Given the description of an element on the screen output the (x, y) to click on. 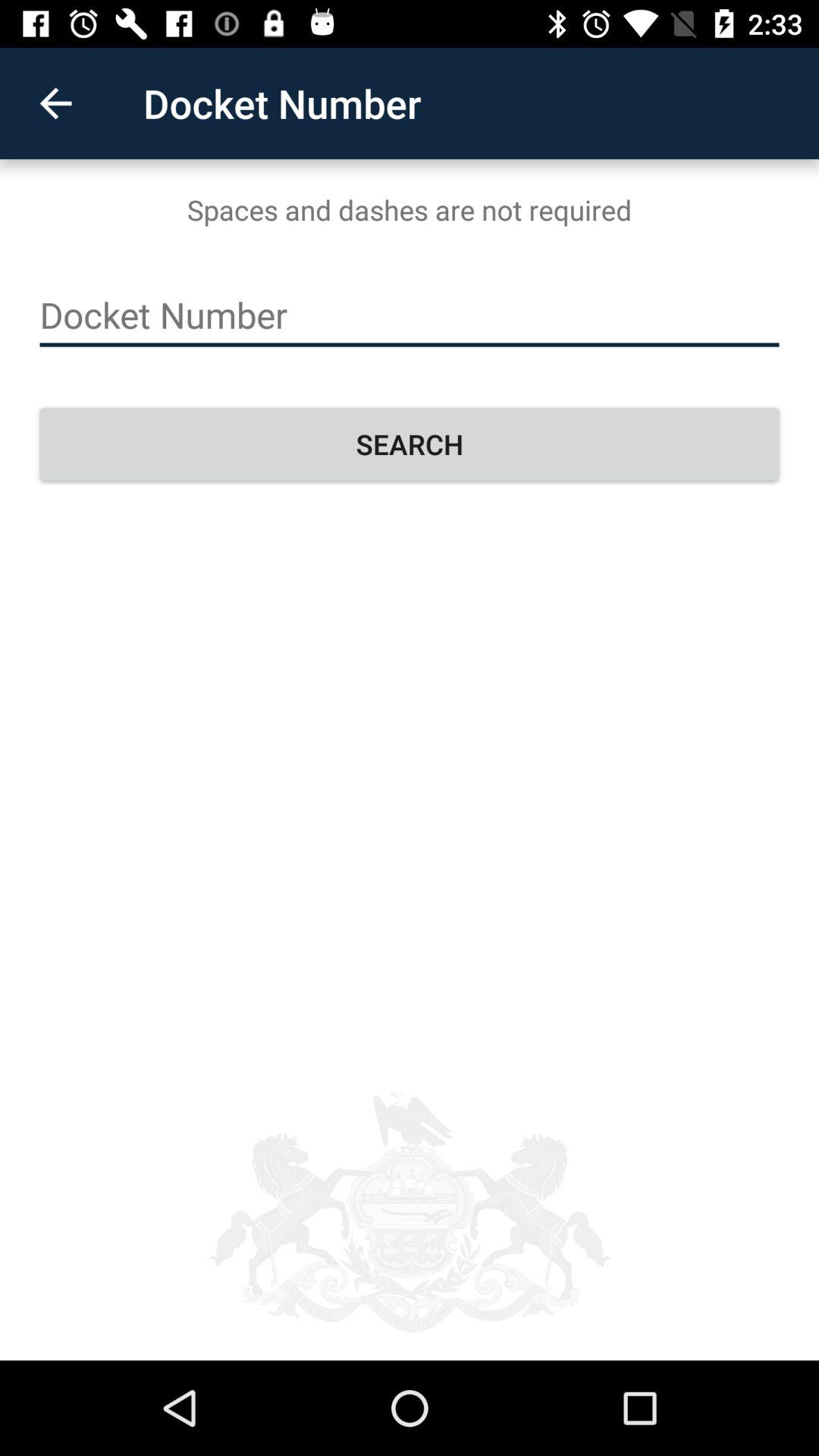
open item at the top left corner (55, 103)
